Given the description of an element on the screen output the (x, y) to click on. 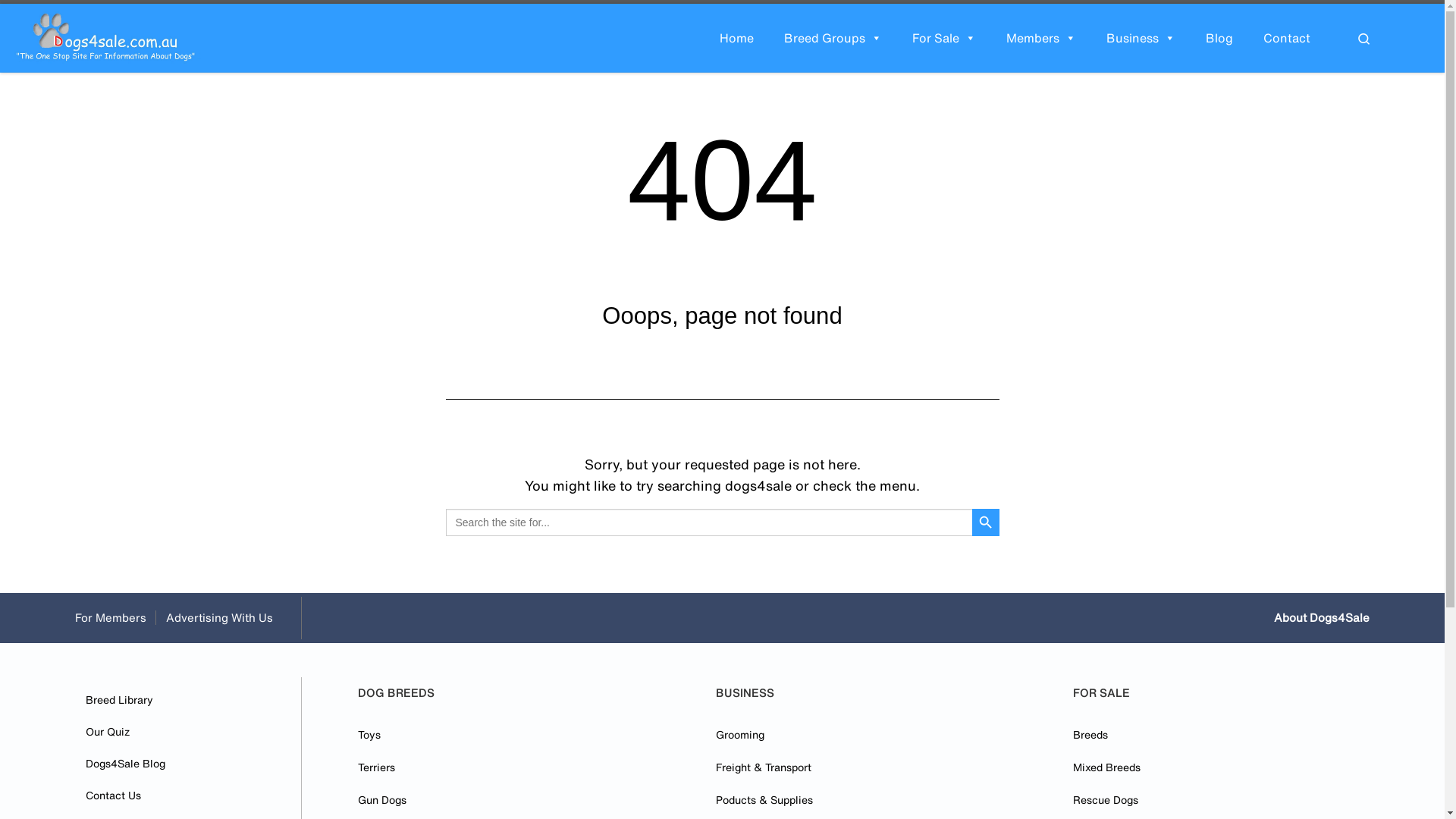
Home Element type: text (736, 37)
Freight & Transport Element type: text (763, 767)
Dogs4Sale Blog Element type: text (125, 763)
For Sale Element type: text (943, 37)
Mixed Breeds Element type: text (1106, 767)
Skip to content Element type: text (61, 20)
Grooming Element type: text (739, 734)
Breed Library Element type: text (119, 699)
Breed Groups Element type: text (832, 37)
SEARCH BUTTON Element type: text (985, 522)
Gun Dogs Element type: text (381, 799)
Rescue Dogs Element type: text (1105, 799)
About Dogs4Sale Element type: text (1321, 617)
Poducts & Supplies Element type: text (763, 799)
Contact Element type: text (1286, 37)
Our Quiz Element type: text (107, 731)
Toys Element type: text (368, 734)
Advertising With Us Element type: text (219, 617)
Breeds Element type: text (1090, 734)
Terriers Element type: text (376, 767)
Business Element type: text (1140, 37)
Members Element type: text (1040, 37)
Contact Us Element type: text (113, 795)
For Members Element type: text (120, 617)
Blog Element type: text (1219, 37)
Search Element type: text (1363, 37)
